Given the description of an element on the screen output the (x, y) to click on. 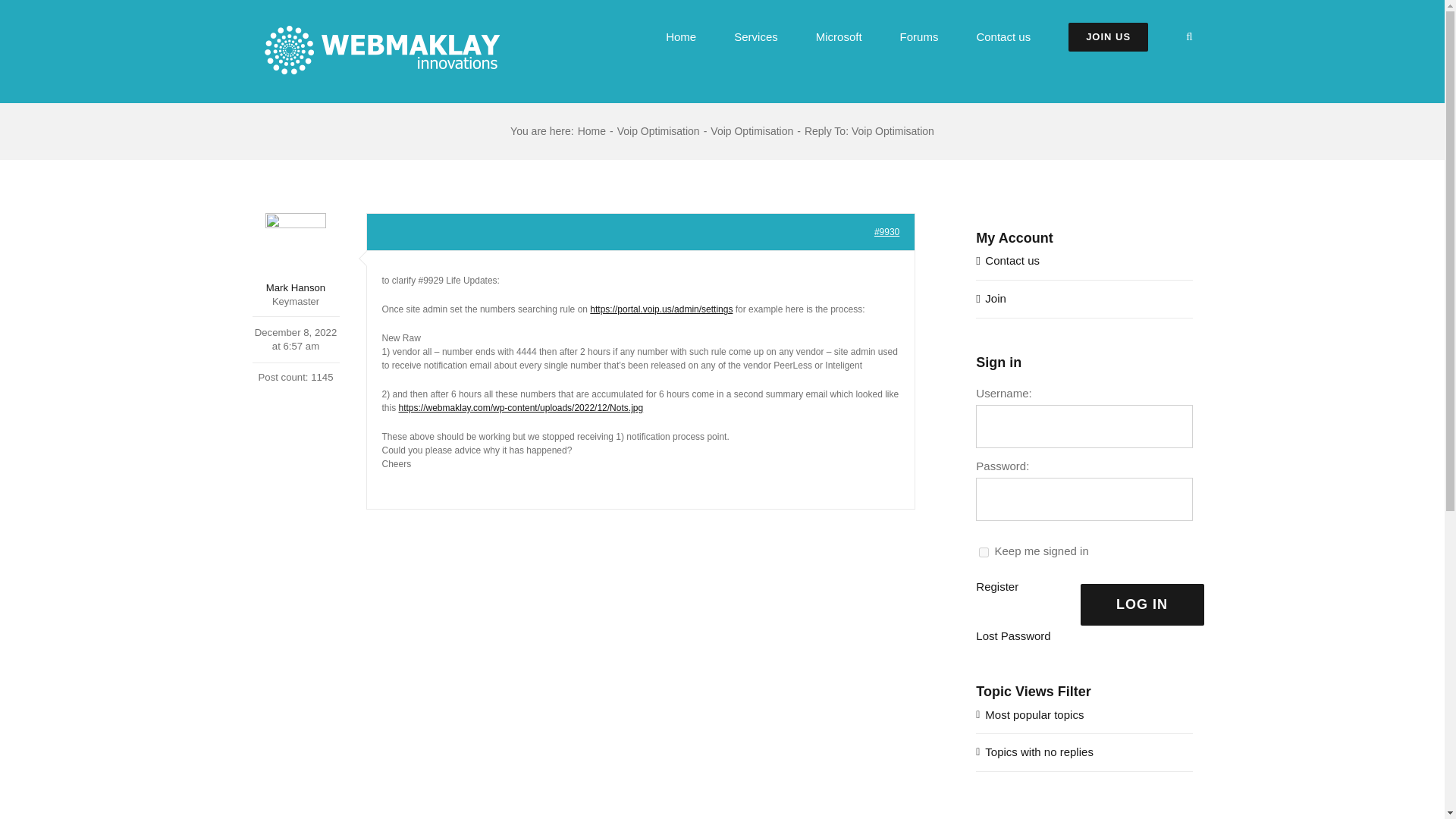
Lost Password (1012, 636)
Lost Password (1012, 636)
Home (591, 131)
Mark Hanson (295, 253)
LOG IN (1142, 604)
View Mark Hanson's profile (295, 253)
Join (995, 297)
Most popular topics (1034, 714)
JOIN US (1108, 36)
Voip Optimisation (751, 131)
Contact us (1012, 259)
Register (996, 587)
Register (996, 587)
Voip Optimisation (658, 131)
Topics with no replies (1039, 751)
